Given the description of an element on the screen output the (x, y) to click on. 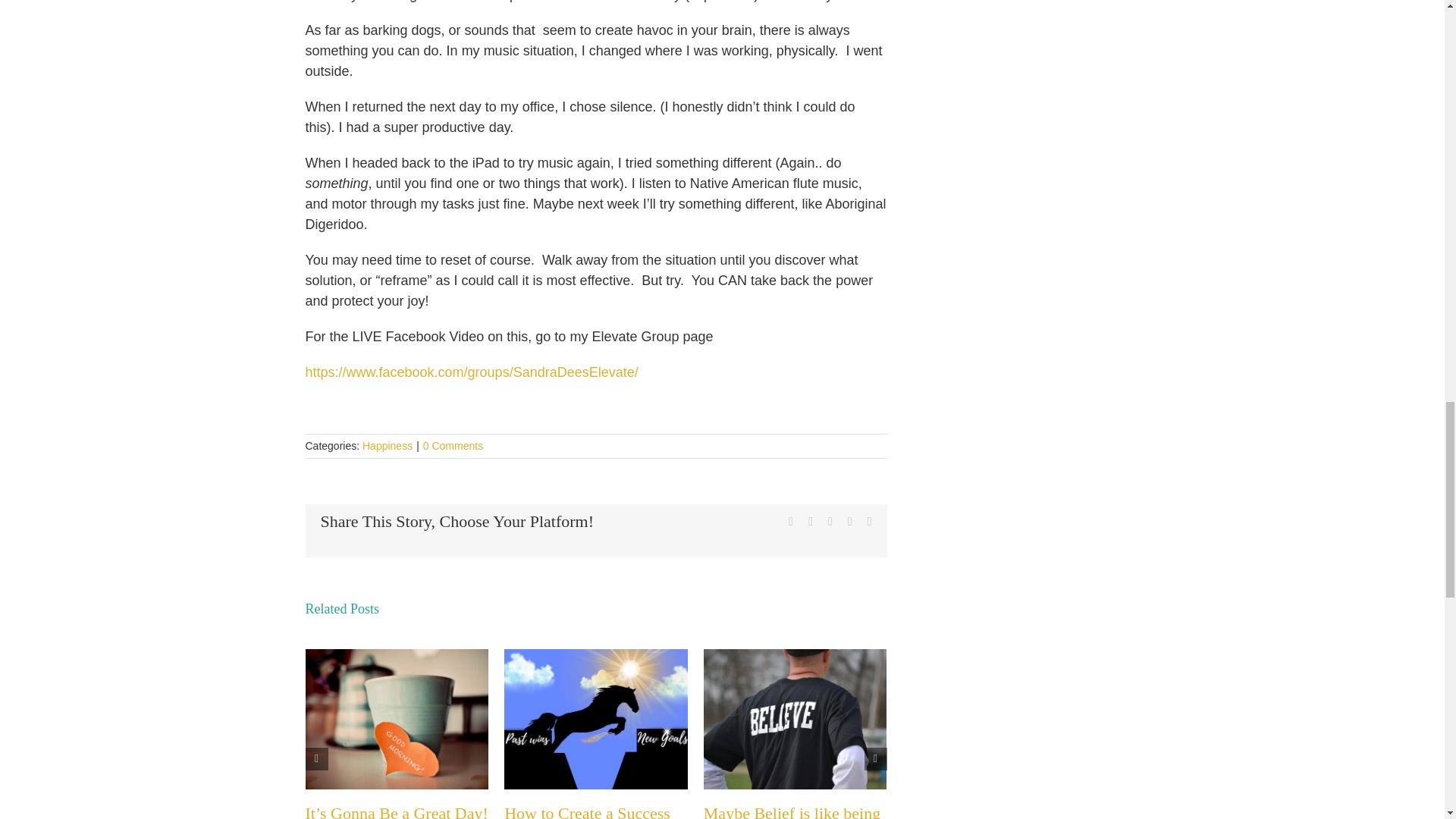
0 Comments (453, 445)
How to Create a Success Board Today (586, 811)
Happiness (387, 445)
